Given the description of an element on the screen output the (x, y) to click on. 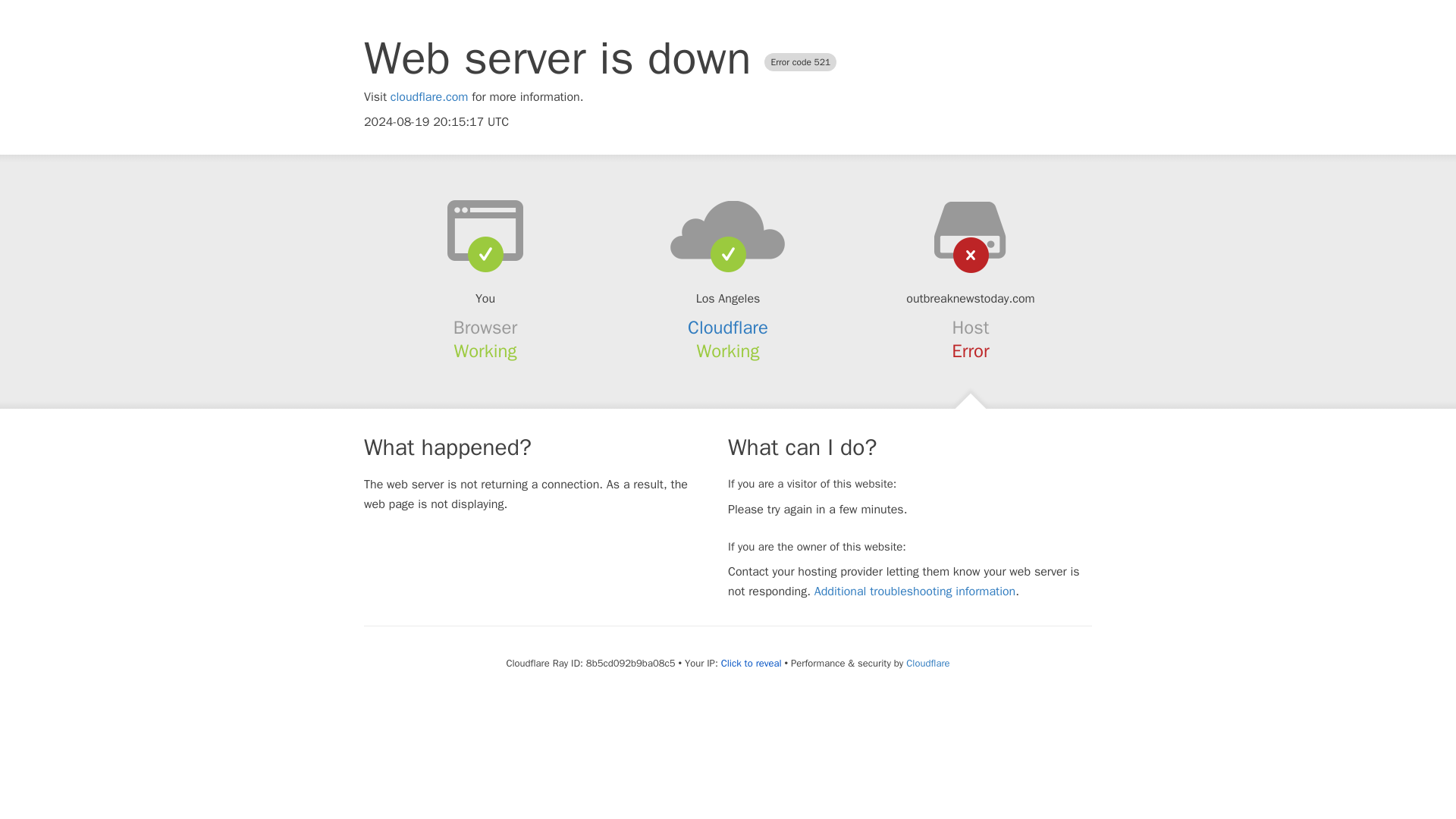
Additional troubleshooting information (913, 590)
cloudflare.com (429, 96)
Cloudflare (727, 327)
Cloudflare (927, 662)
Click to reveal (750, 663)
